Given the description of an element on the screen output the (x, y) to click on. 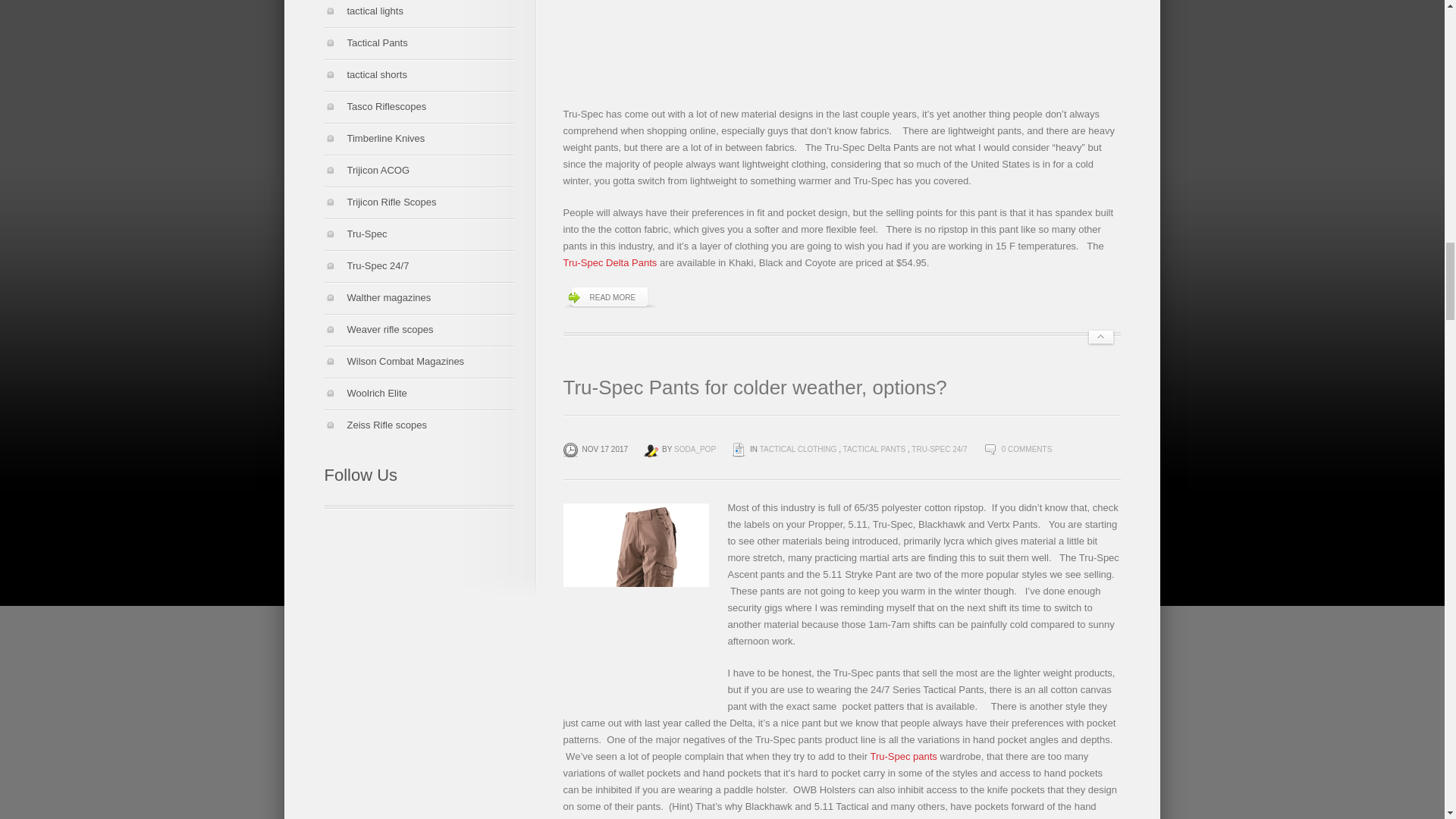
READ MORE (609, 297)
Tru-Spec pants (902, 756)
TACTICAL PANTS (874, 449)
0 COMMENTS (1026, 449)
Tru-Spec Pants for colder weather, options? (754, 386)
TACTICAL CLOTHING (798, 449)
Tru-Spec Delta Pants (609, 262)
